Given the description of an element on the screen output the (x, y) to click on. 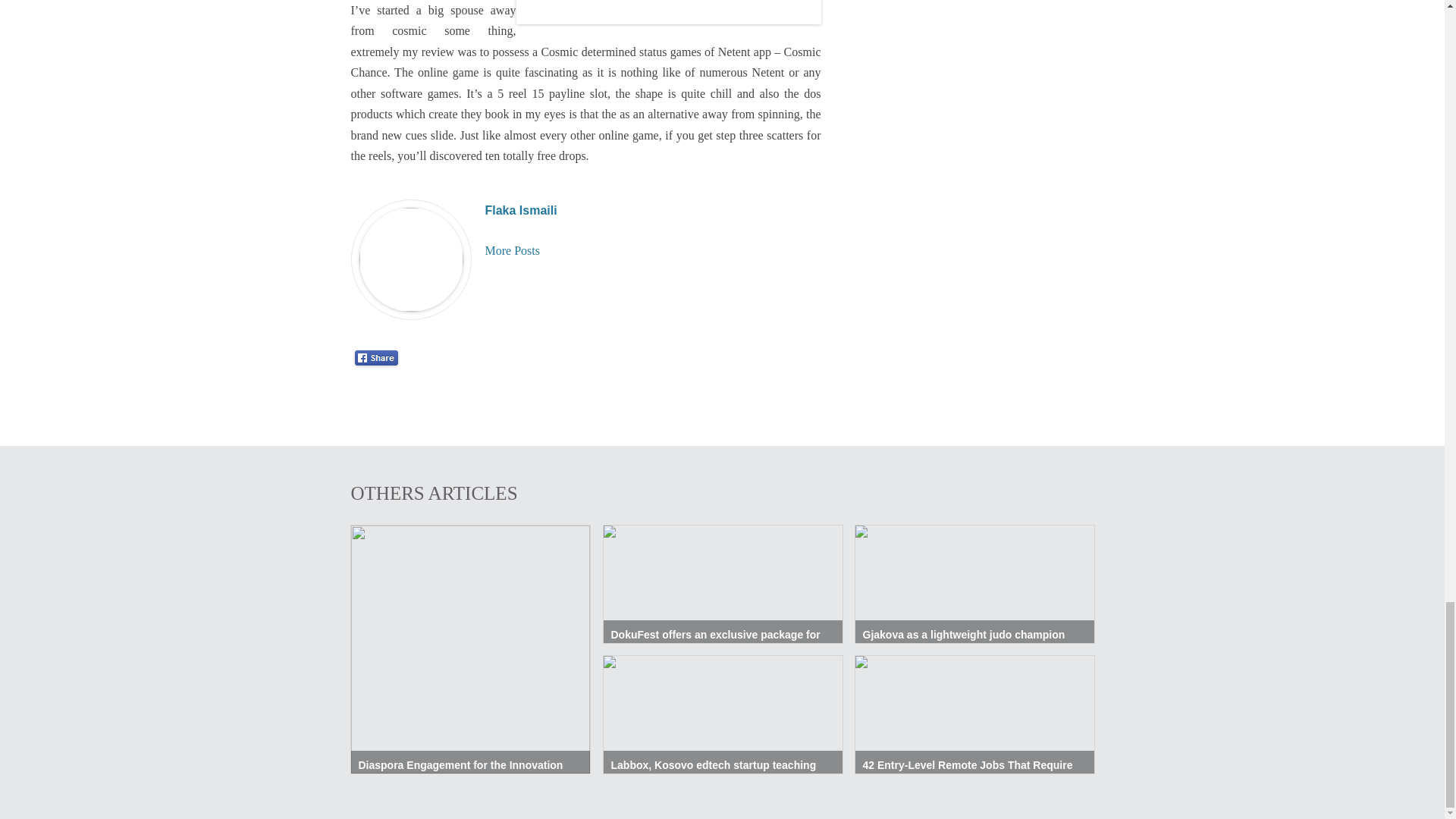
More posts by Flaka Ismaili (512, 250)
Flaka Ismaili (520, 210)
More Posts (512, 250)
Flaka Ismaili (520, 210)
